Given the description of an element on the screen output the (x, y) to click on. 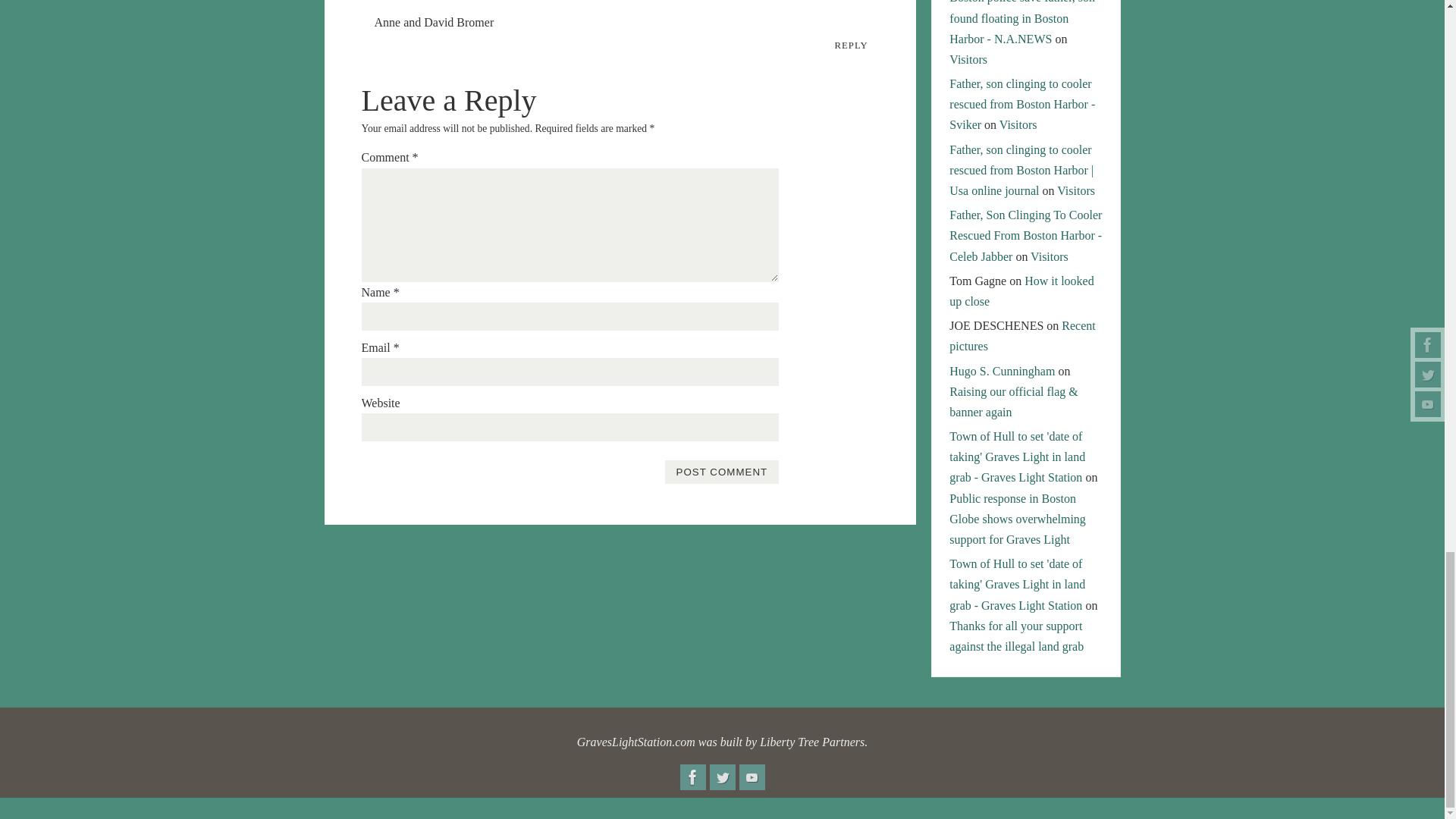
Post Comment (721, 471)
